Given the description of an element on the screen output the (x, y) to click on. 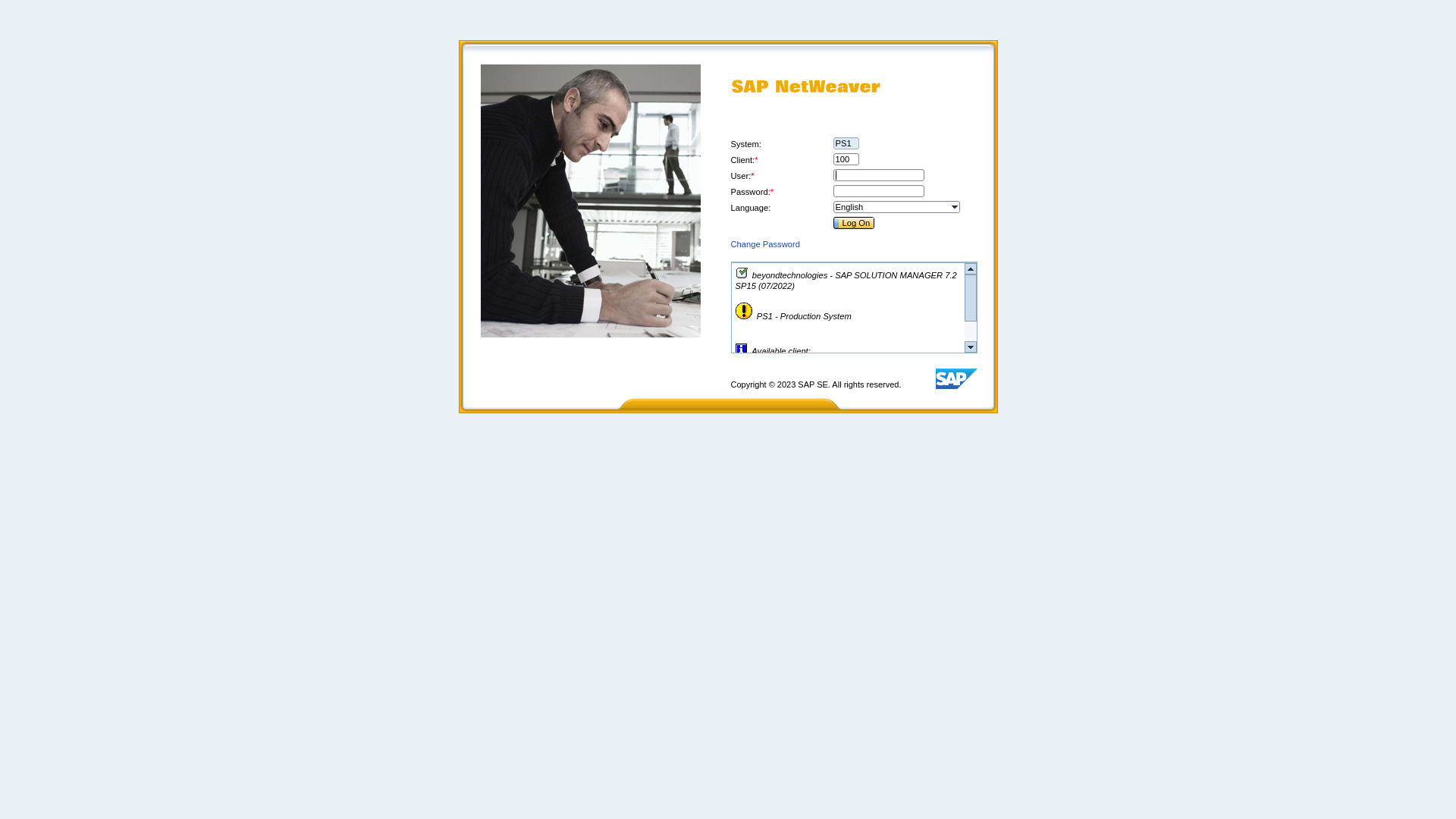
Change Password Element type: text (765, 243)
